Given the description of an element on the screen output the (x, y) to click on. 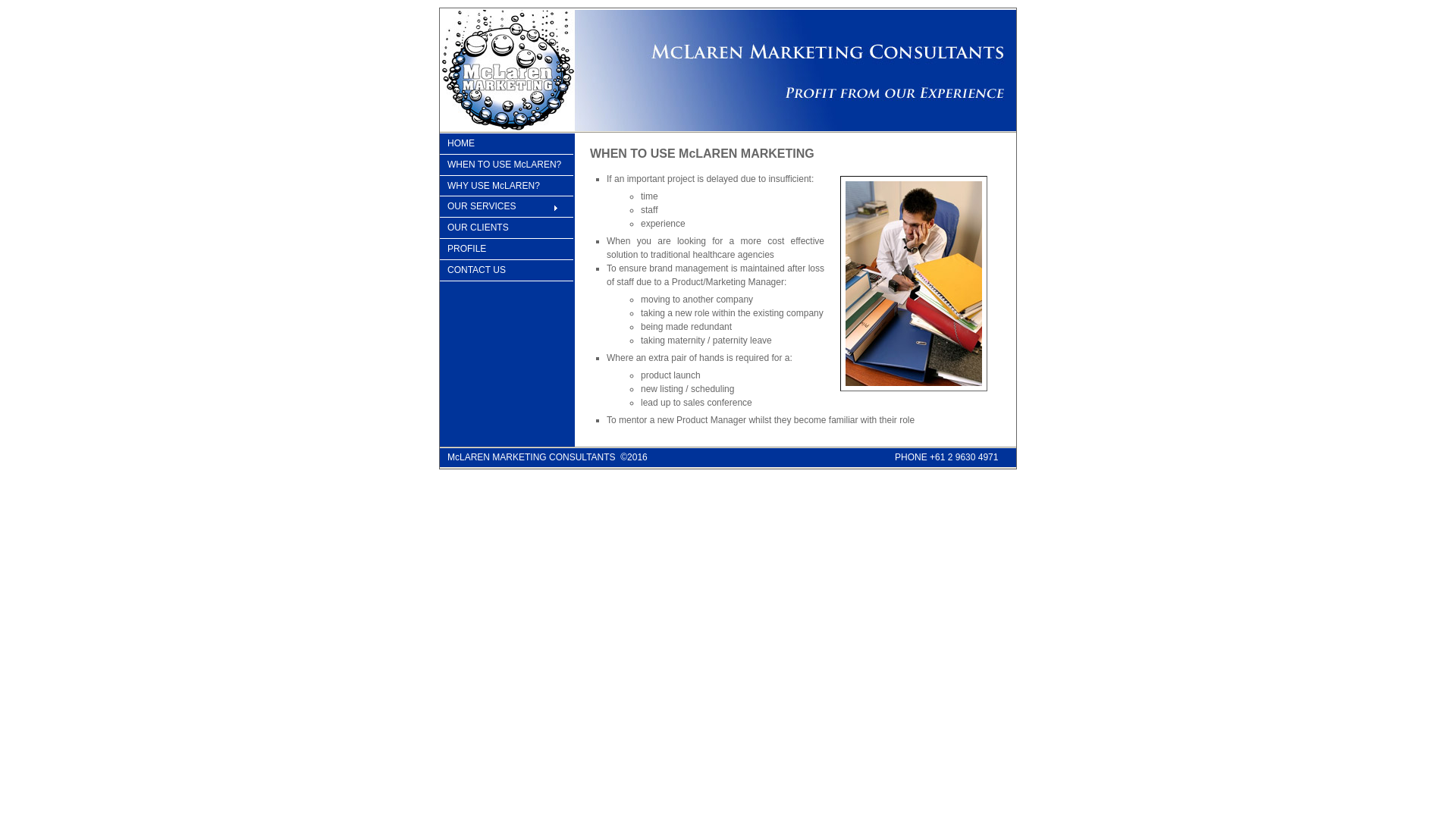
OUR CLIENTS Element type: text (506, 227)
CONTACT US Element type: text (506, 270)
WHY USE McLAREN? Element type: text (506, 186)
HOME Element type: text (506, 143)
OUR SERVICES Element type: text (506, 206)
PROFILE Element type: text (506, 249)
WHEN TO USE McLAREN? Element type: text (506, 164)
